Given the description of an element on the screen output the (x, y) to click on. 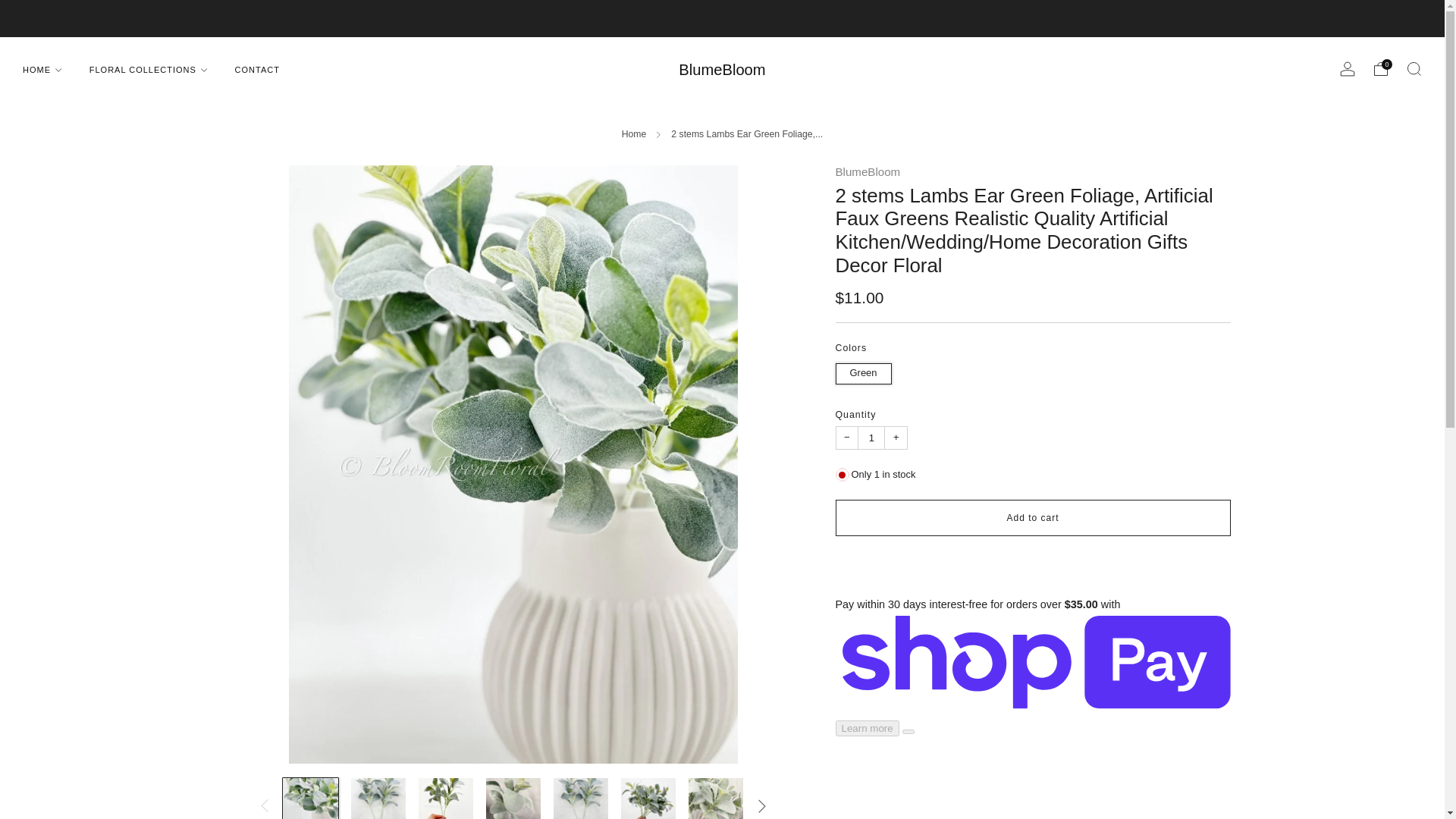
0 (1381, 68)
Home (633, 133)
BlumeBloom (868, 171)
FLORAL COLLECTIONS (148, 69)
CONTACT (256, 69)
Green (865, 370)
BlumeBloom (721, 69)
HOME (42, 69)
1 (871, 437)
